Given the description of an element on the screen output the (x, y) to click on. 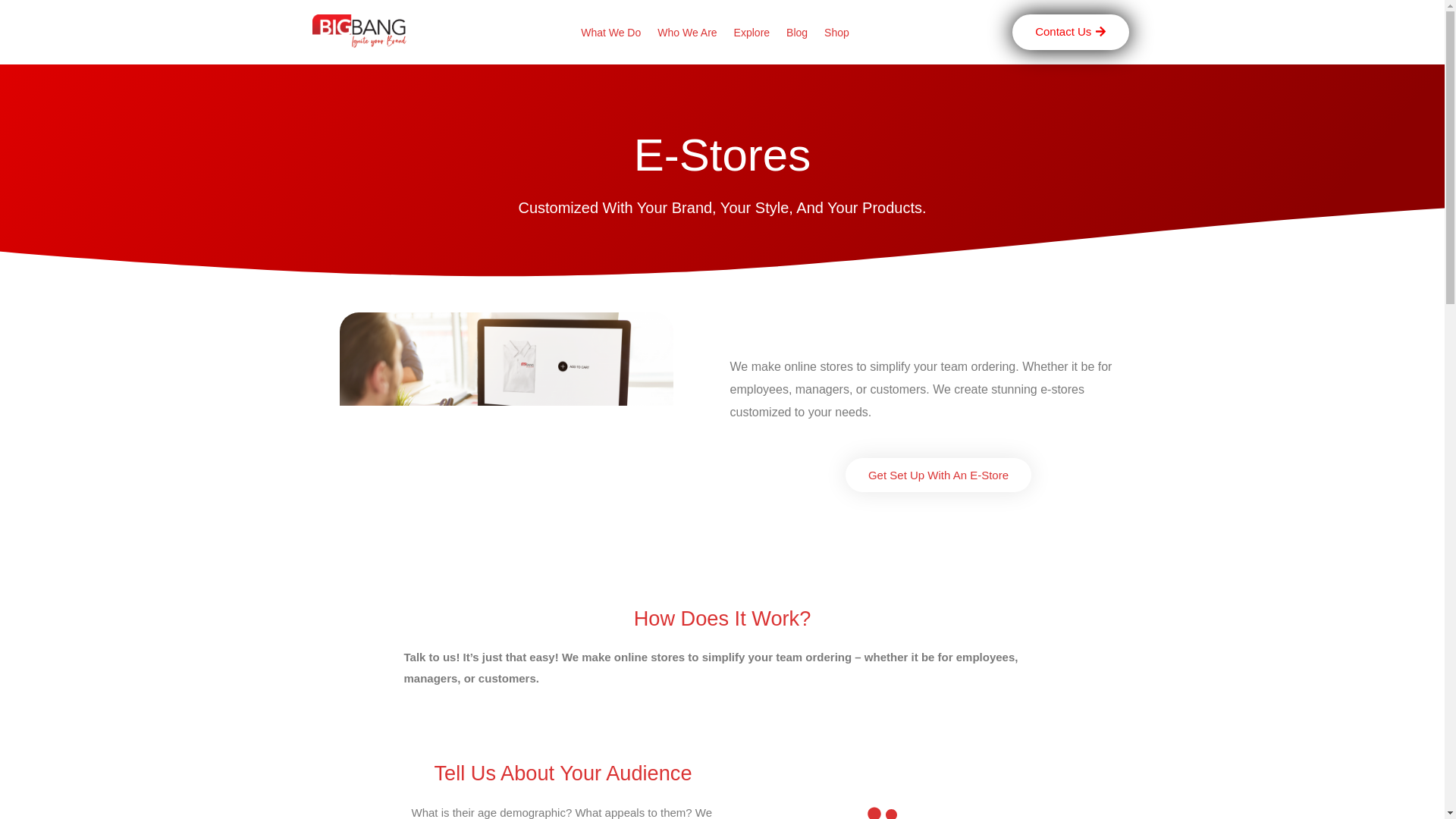
Blog (796, 32)
Contact Us (1070, 31)
Explore (751, 32)
Shop (836, 32)
What We Do (610, 32)
Get Set Up With An E-Store (937, 474)
Who We Are (687, 32)
